Given the description of an element on the screen output the (x, y) to click on. 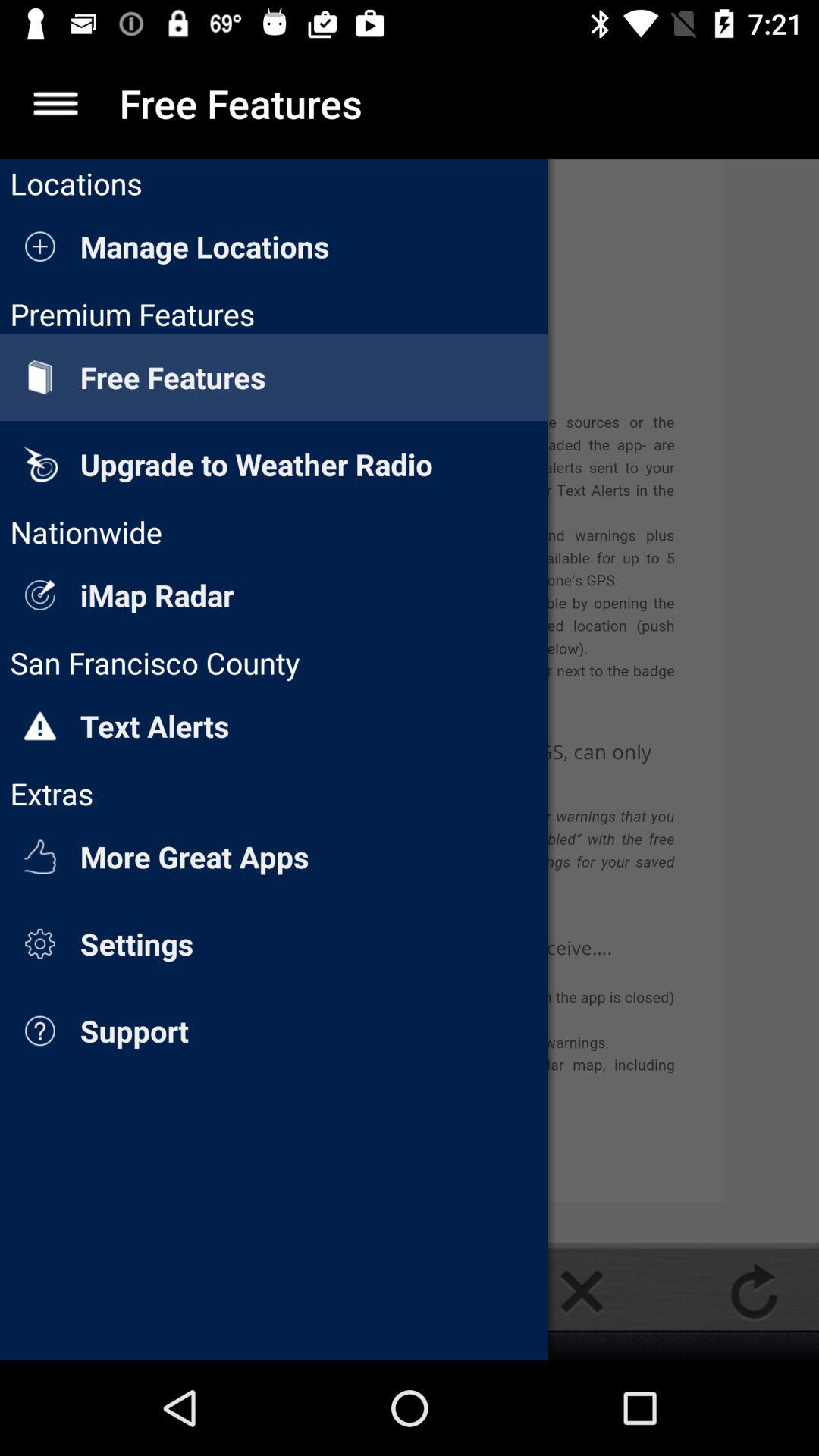
features (55, 103)
